Given the description of an element on the screen output the (x, y) to click on. 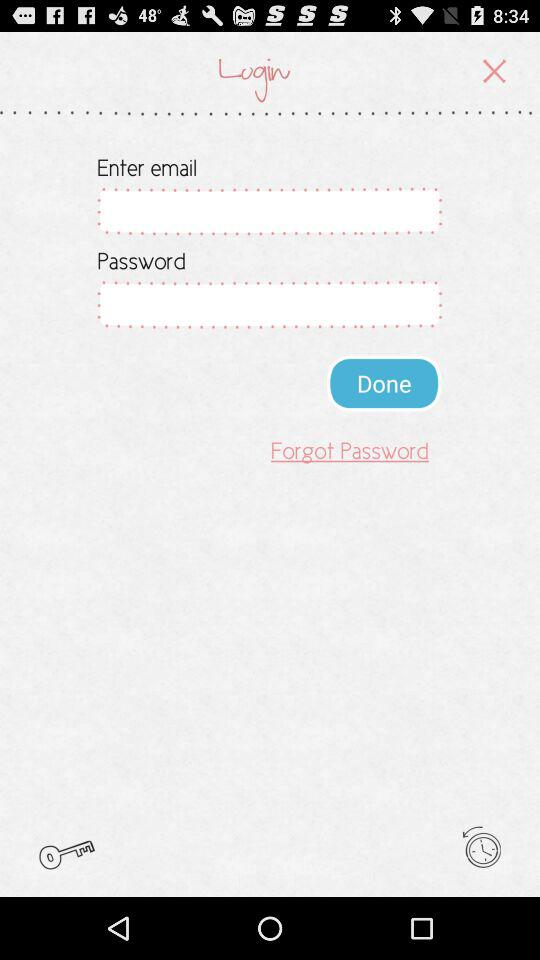
flip to the done item (384, 382)
